Given the description of an element on the screen output the (x, y) to click on. 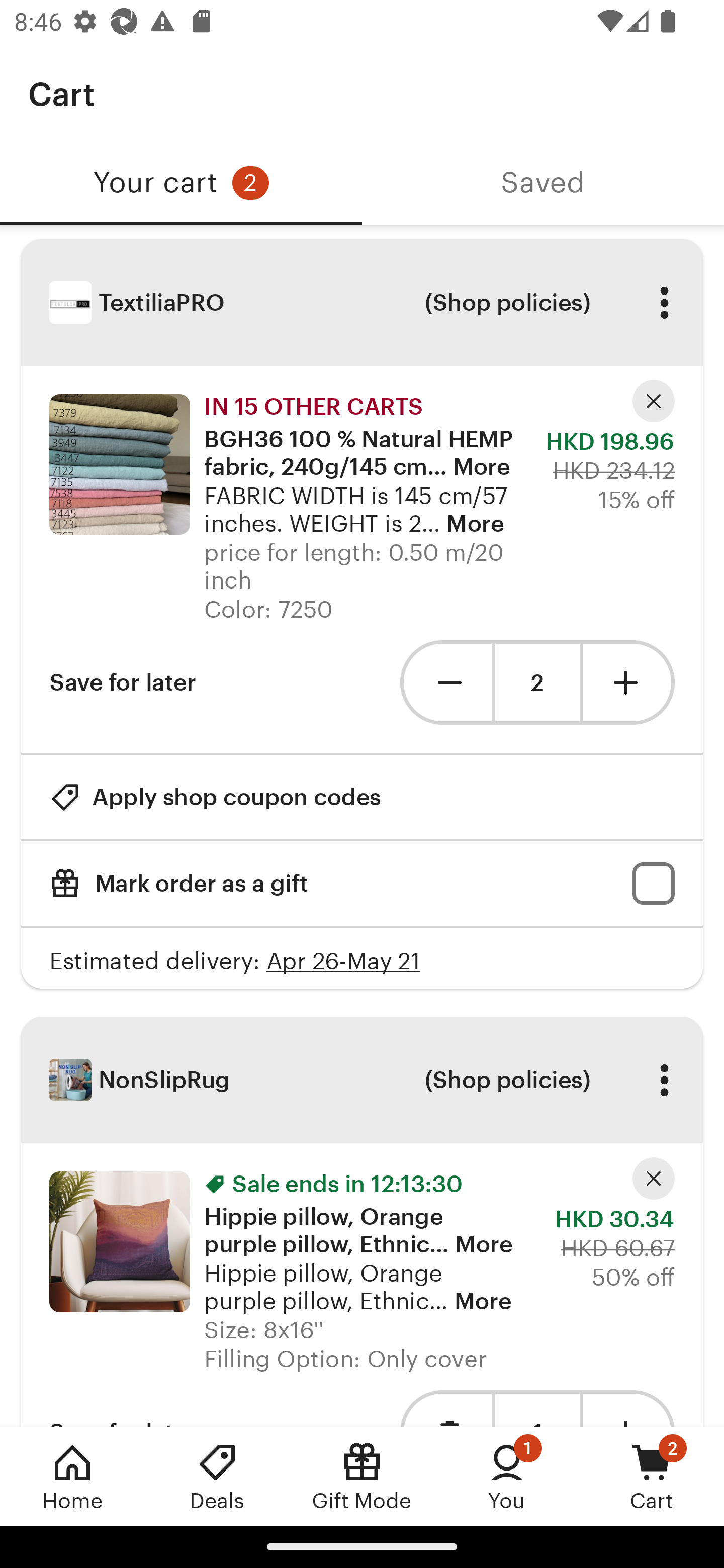
Saved, tab 2 of 2 Saved (543, 183)
TextiliaPRO (Shop policies) More options (361, 302)
(Shop policies) (507, 302)
More options (663, 302)
Save for later (122, 681)
Remove one unit from cart (445, 681)
Add one unit to cart (628, 681)
2 (537, 682)
Apply shop coupon codes (215, 796)
Mark order as a gift (361, 883)
NonSlipRug (Shop policies) More options (361, 1079)
(Shop policies) (507, 1080)
More options (663, 1080)
Home (72, 1475)
Deals (216, 1475)
Gift Mode (361, 1475)
You, 1 new notification You (506, 1475)
